Given the description of an element on the screen output the (x, y) to click on. 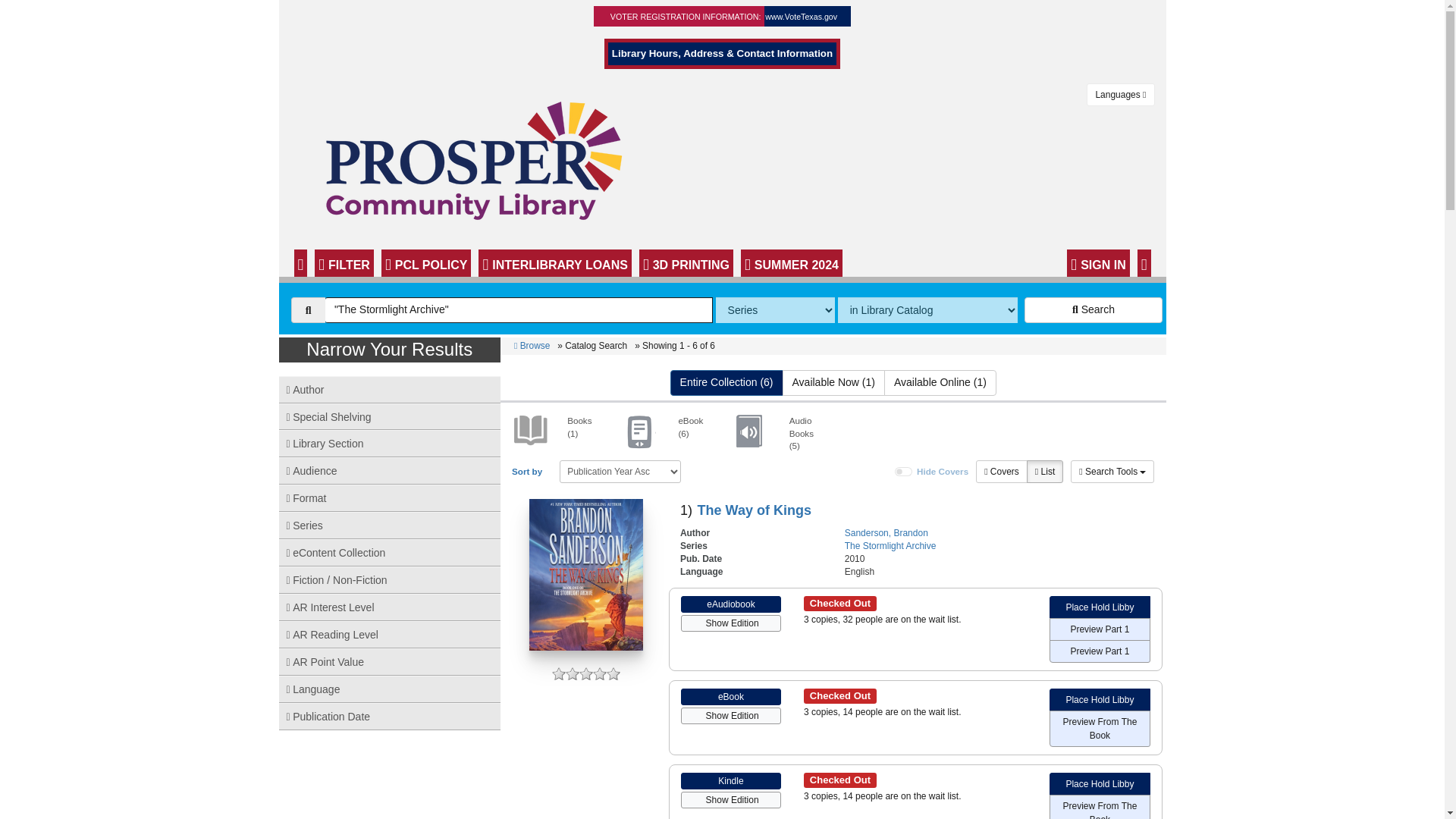
SUMMER 2024 (792, 262)
SIGN IN (1098, 262)
"The Stormlight Archive" (518, 309)
www.VoteTexas.gov (801, 16)
3D PRINTING (686, 262)
VOTER REGISTRATION INFORMATION:  (686, 16)
on (903, 470)
FILTER (344, 262)
INTERLIBRARY LOANS (554, 262)
The method of searching. (775, 309)
 Search (1093, 309)
Languages  (1120, 94)
Library Home Page (483, 159)
PCL POLICY (426, 262)
